Given the description of an element on the screen output the (x, y) to click on. 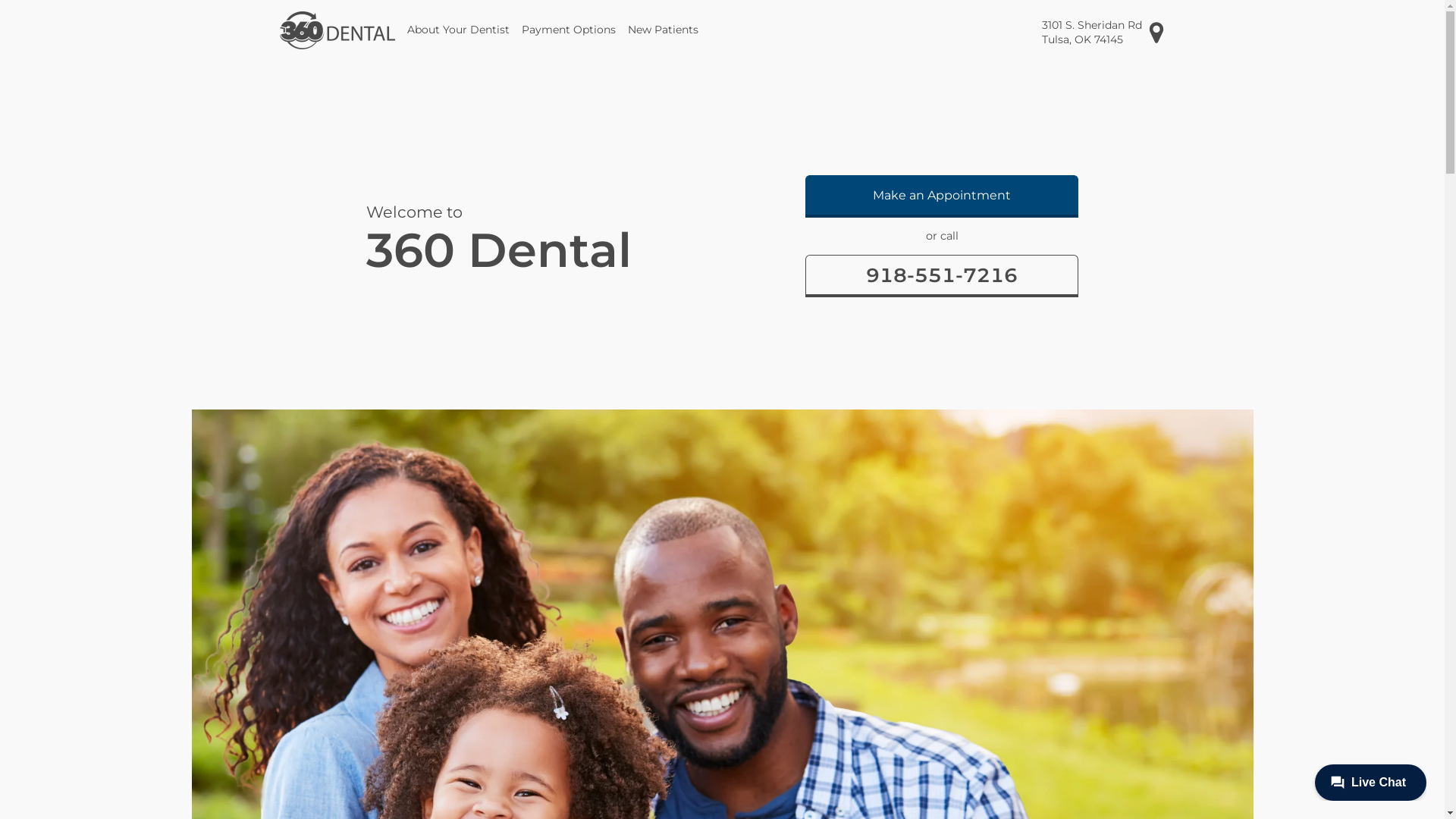
Make an Appointment Element type: text (941, 196)
Payment Options Element type: text (568, 29)
3101 S. Sheridan Rd
Tulsa, OK 74145 Element type: text (1103, 31)
New Patients Element type: text (662, 29)
918-551-7216 Element type: text (941, 275)
About Your Dentist Element type: text (457, 29)
